Given the description of an element on the screen output the (x, y) to click on. 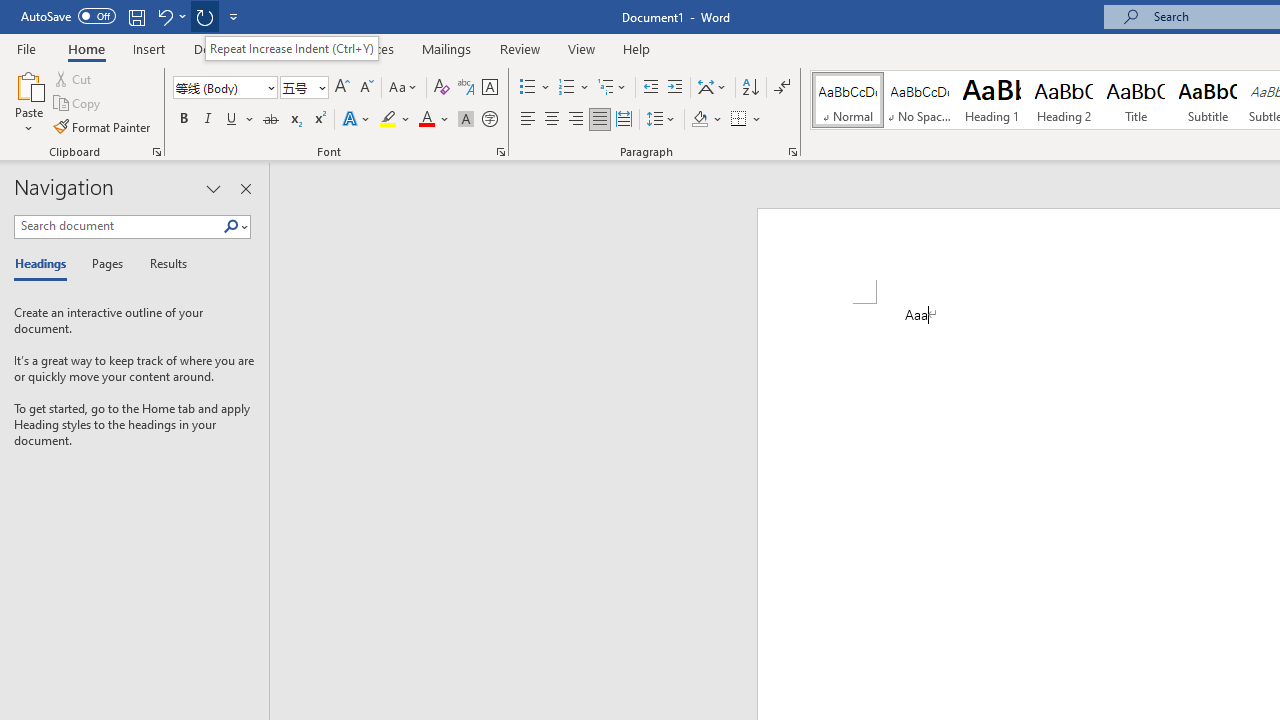
Heading 1 (991, 100)
Repeat Increase Indent (204, 15)
